Given the description of an element on the screen output the (x, y) to click on. 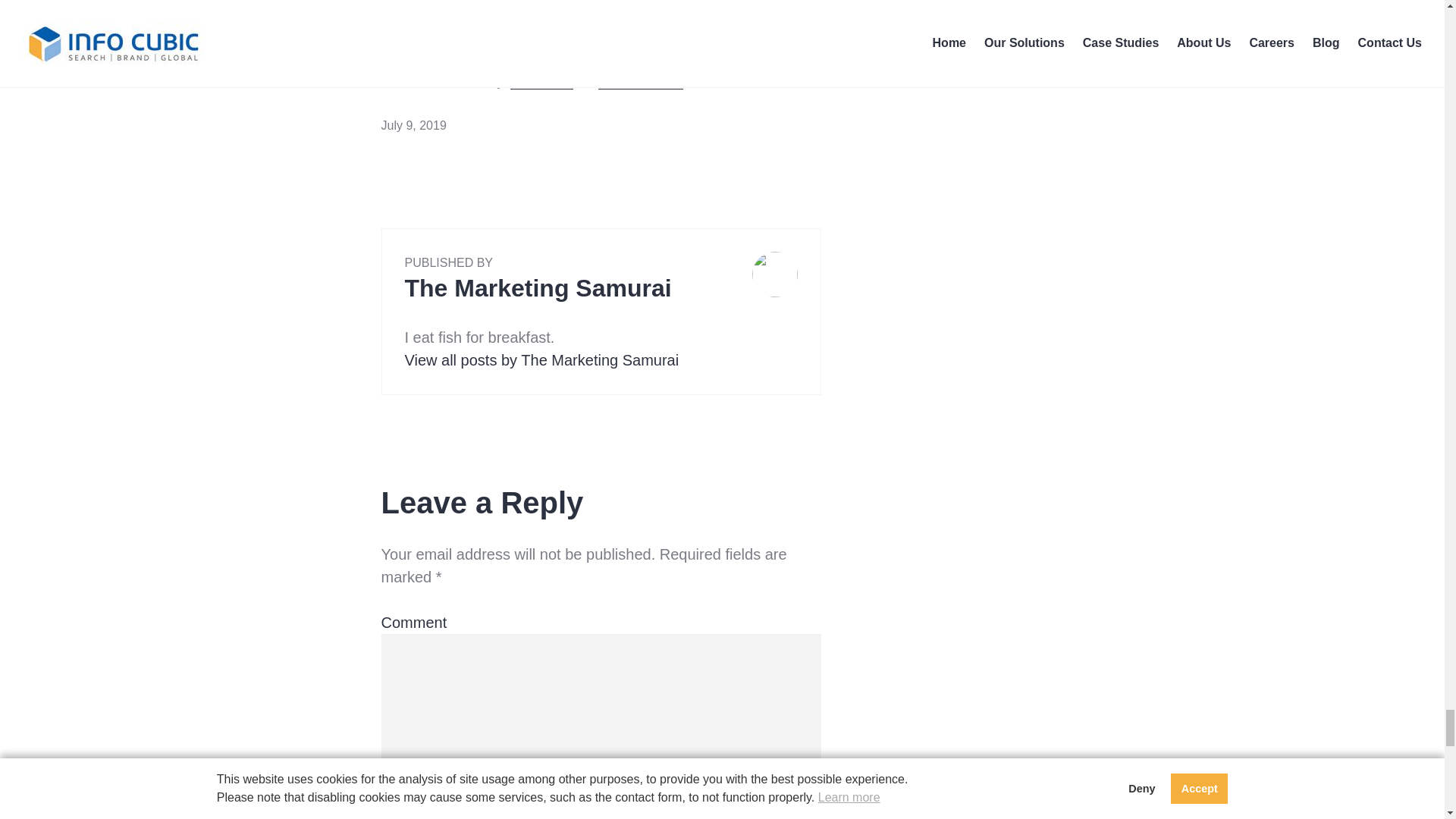
Shutterstock (640, 80)
View all posts by The Marketing Samurai (541, 360)
RawPixel (542, 80)
July 9, 2019 (412, 124)
